Given the description of an element on the screen output the (x, y) to click on. 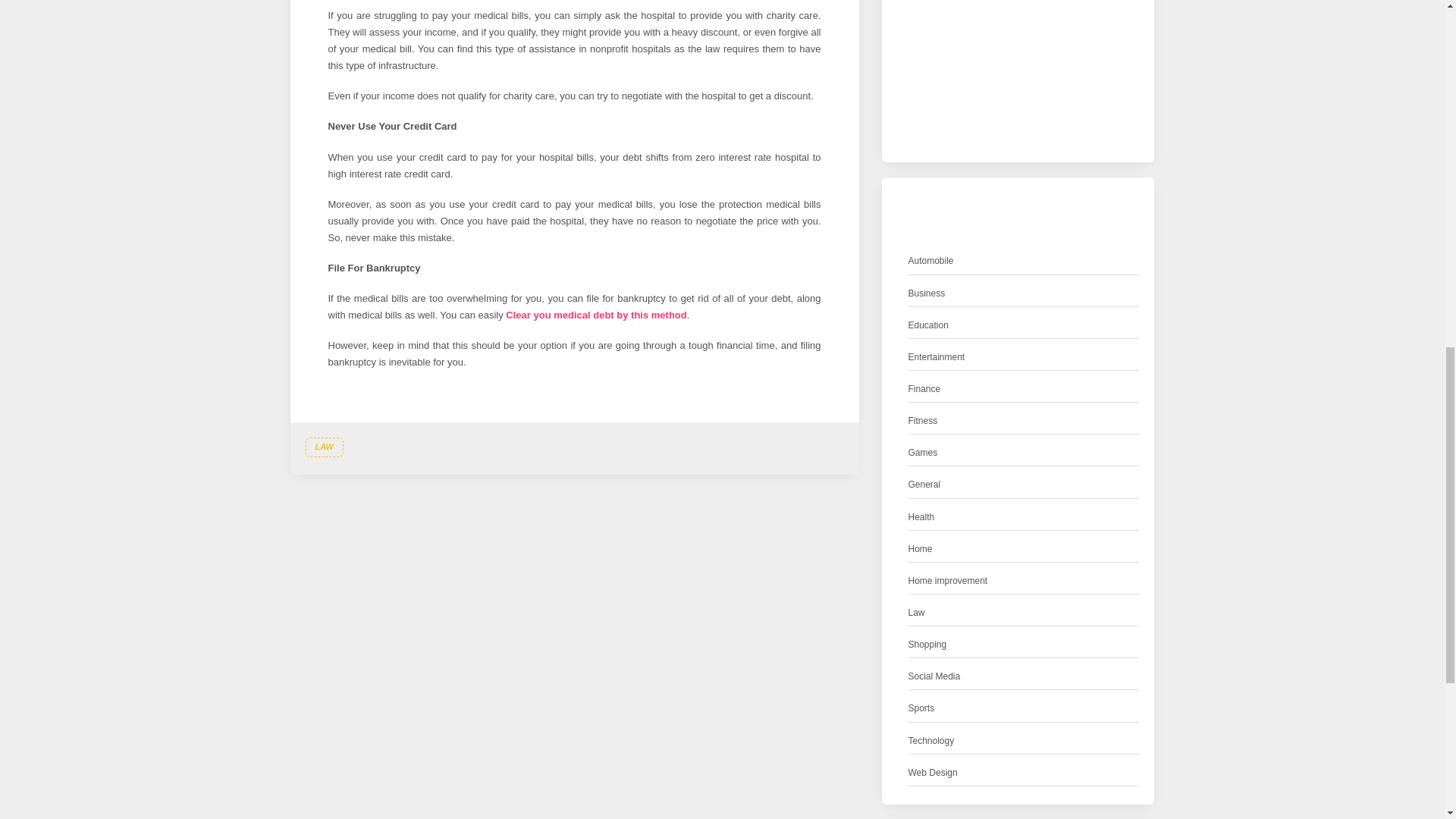
Home improvement (948, 580)
Education (928, 325)
Clear you medical debt by this method (595, 315)
Business (926, 293)
Shopping (927, 644)
Sports (921, 708)
Web Design (933, 772)
Technology (931, 741)
Automobile (930, 261)
Games (922, 453)
